Given the description of an element on the screen output the (x, y) to click on. 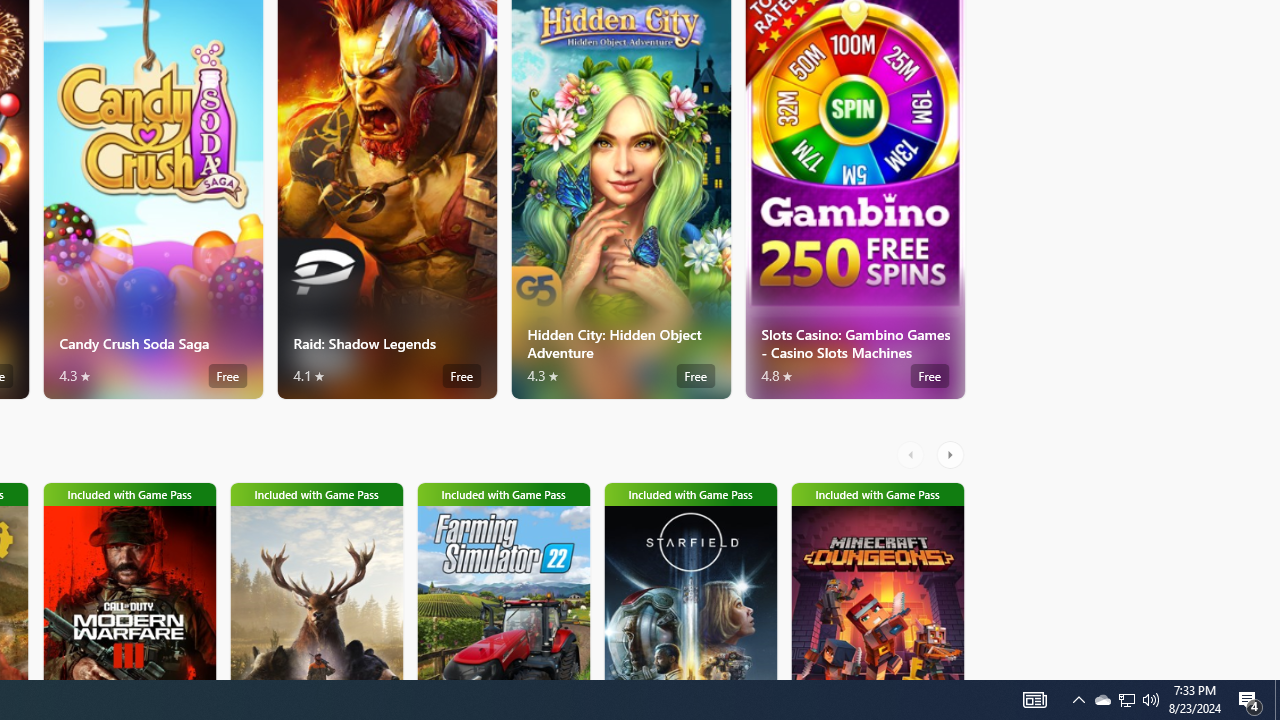
AutomationID: RightScrollButton (952, 454)
AutomationID: LeftScrollButton (913, 454)
